Given the description of an element on the screen output the (x, y) to click on. 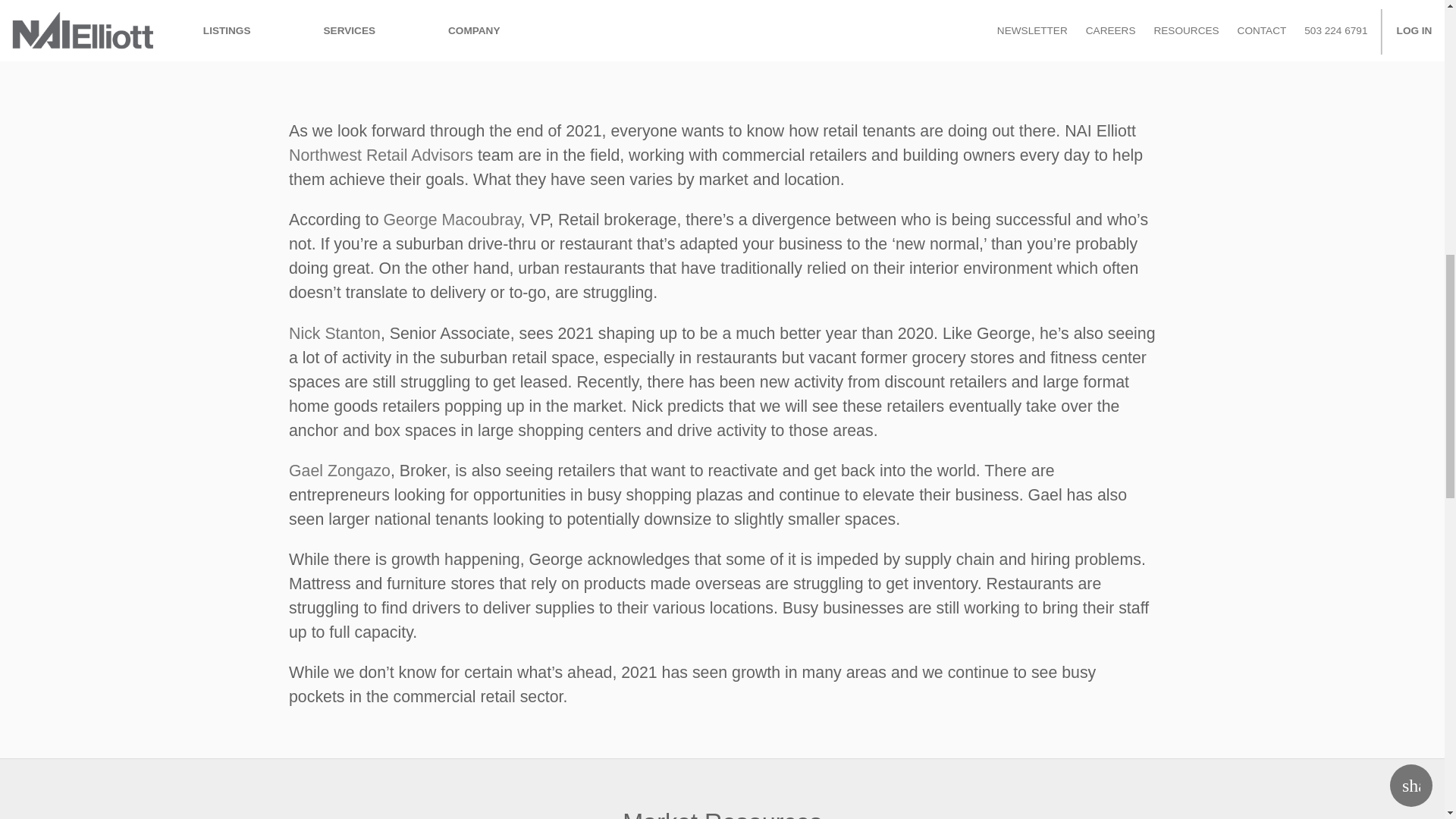
George Macoubray (450, 219)
Gael Zongazo (339, 470)
Northwest Retail Advisors (380, 155)
Nick Stanton (334, 333)
vimeo-player (722, 48)
